Given the description of an element on the screen output the (x, y) to click on. 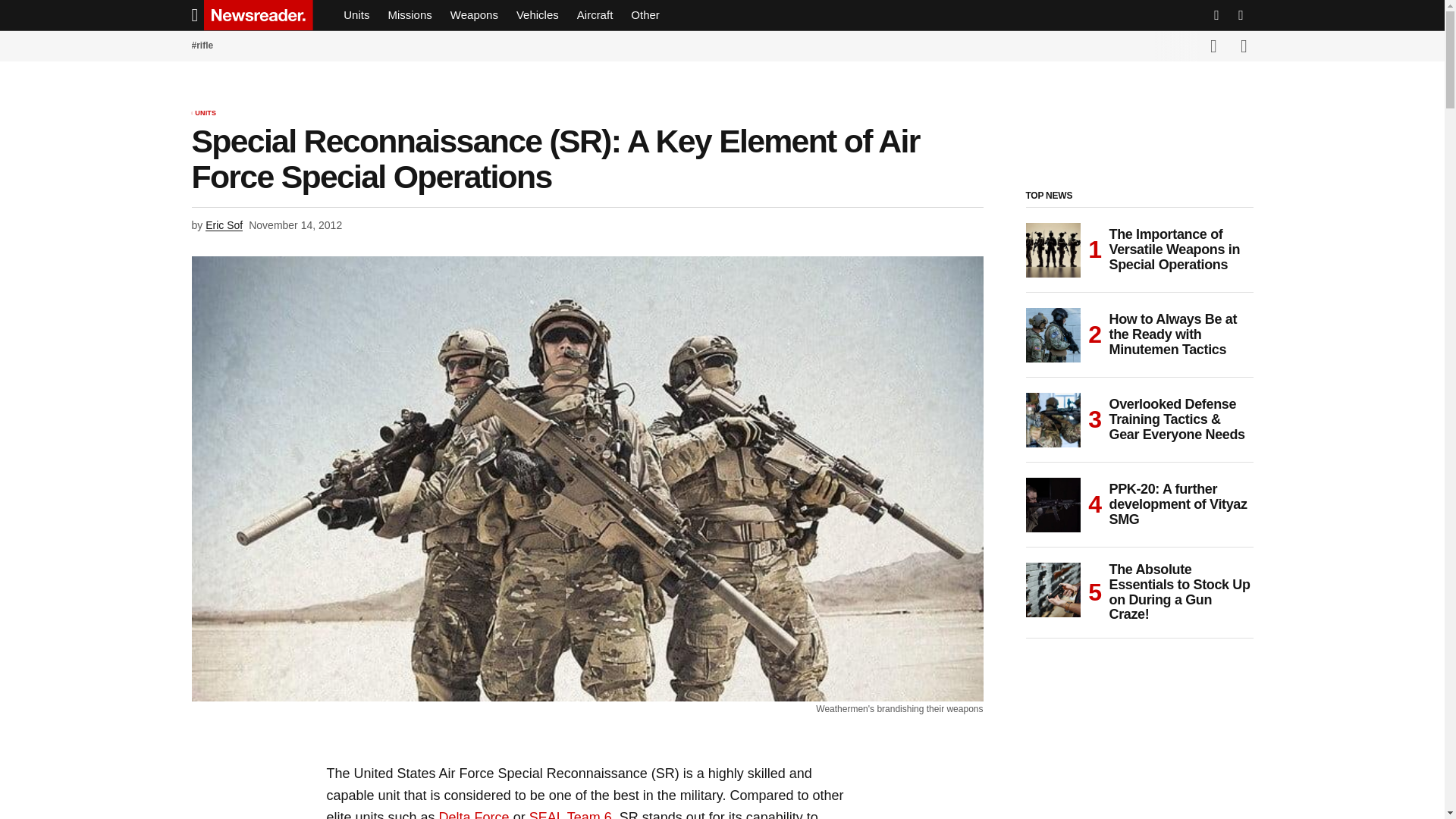
Delta Force (474, 814)
Weapons (473, 15)
Missions (409, 15)
UNITS (205, 113)
Advertisement (1138, 746)
Eric Sof (224, 225)
Vehicles (536, 15)
Other (644, 15)
Aircraft (595, 15)
Units (356, 15)
SEAL Team 6 (570, 814)
